Given the description of an element on the screen output the (x, y) to click on. 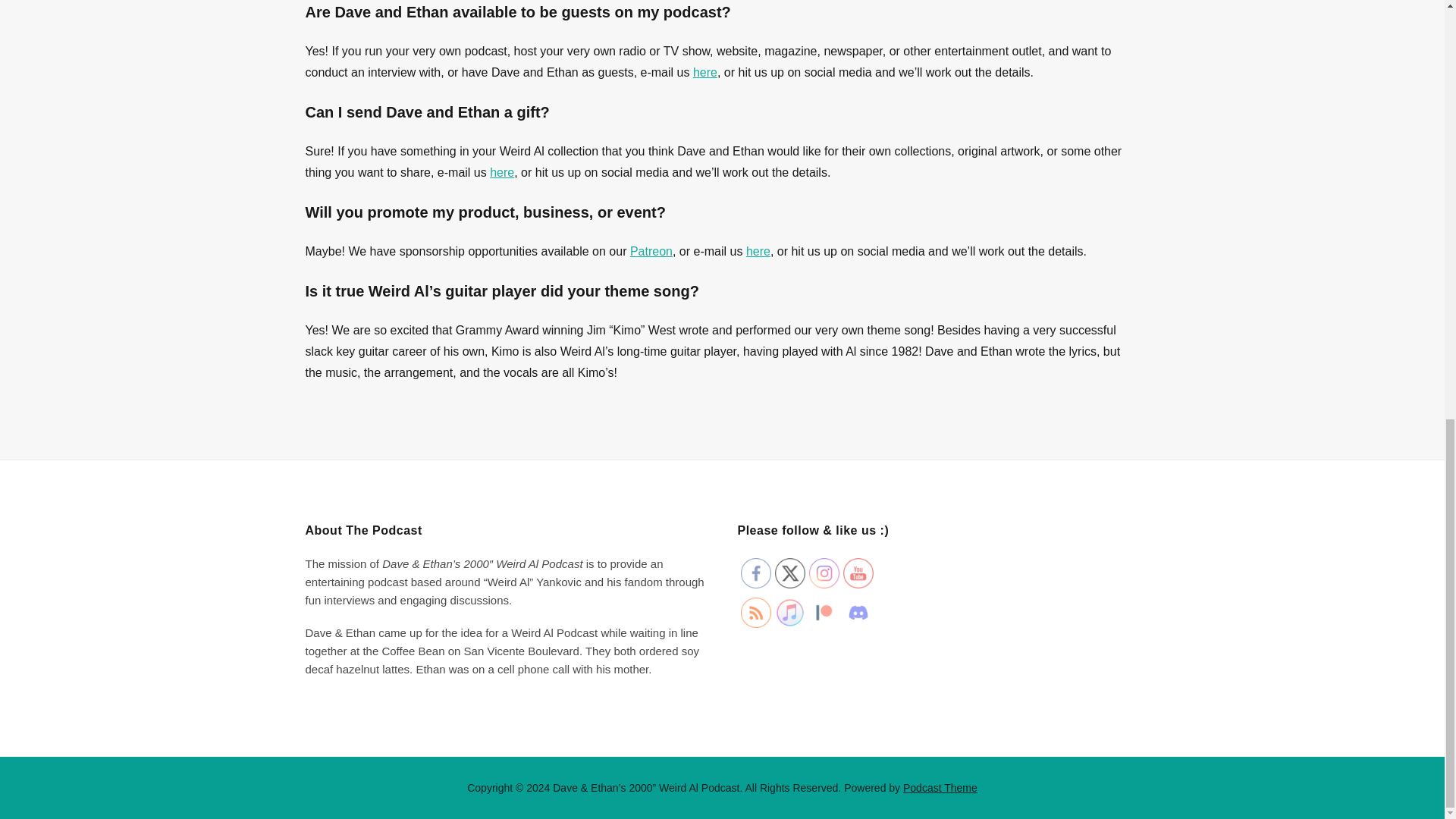
Facebook (754, 572)
Patreon (823, 612)
YouTube (858, 572)
Apple Podcasts (789, 612)
RSS (754, 612)
Instagram (823, 572)
Discord (858, 612)
Twitter (789, 572)
